Given the description of an element on the screen output the (x, y) to click on. 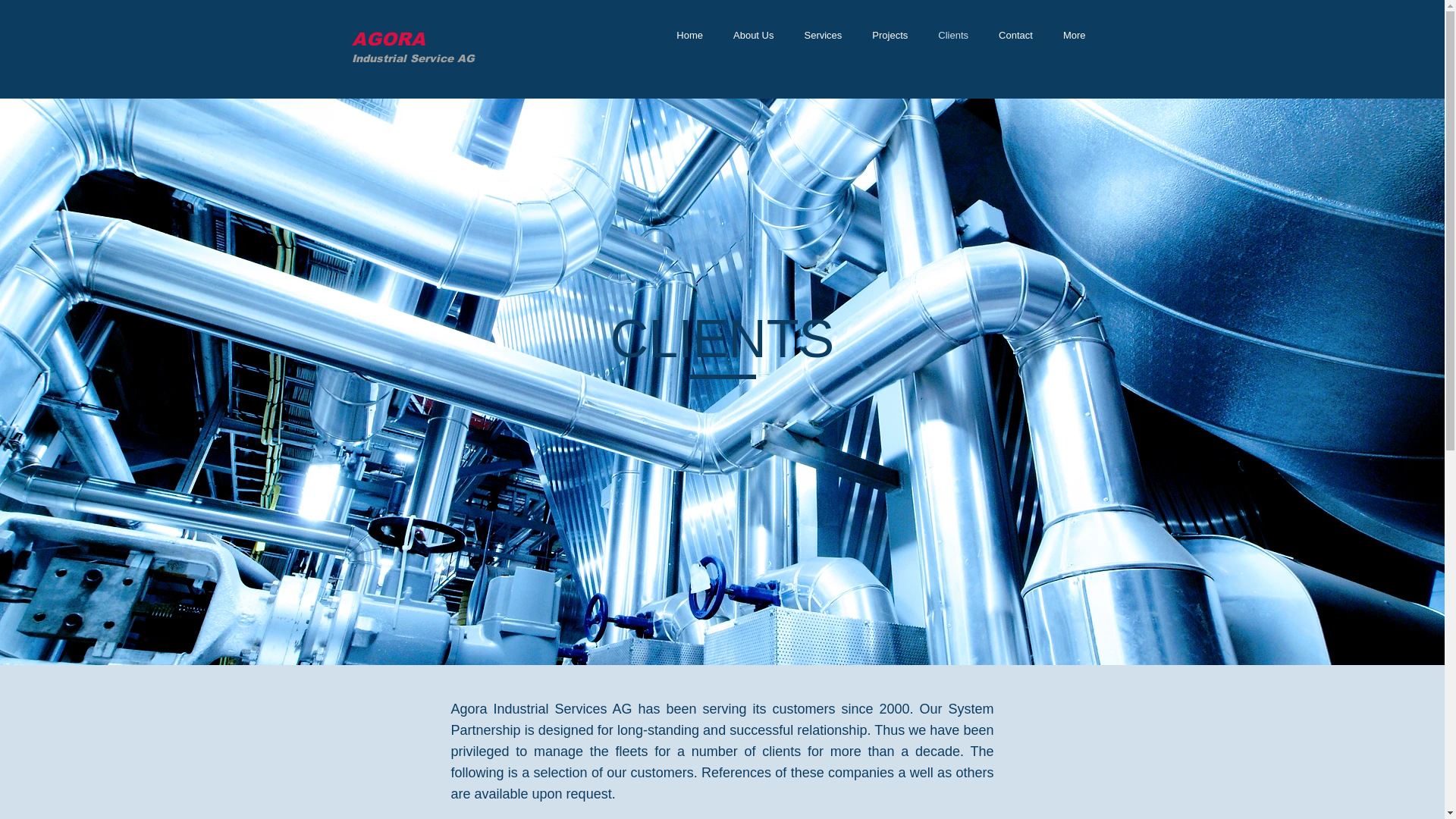
Contact Element type: text (1015, 37)
Services Element type: text (822, 37)
Projects Element type: text (889, 37)
Home Element type: text (689, 37)
About Us Element type: text (753, 37)
Clients Element type: text (952, 37)
